Given the description of an element on the screen output the (x, y) to click on. 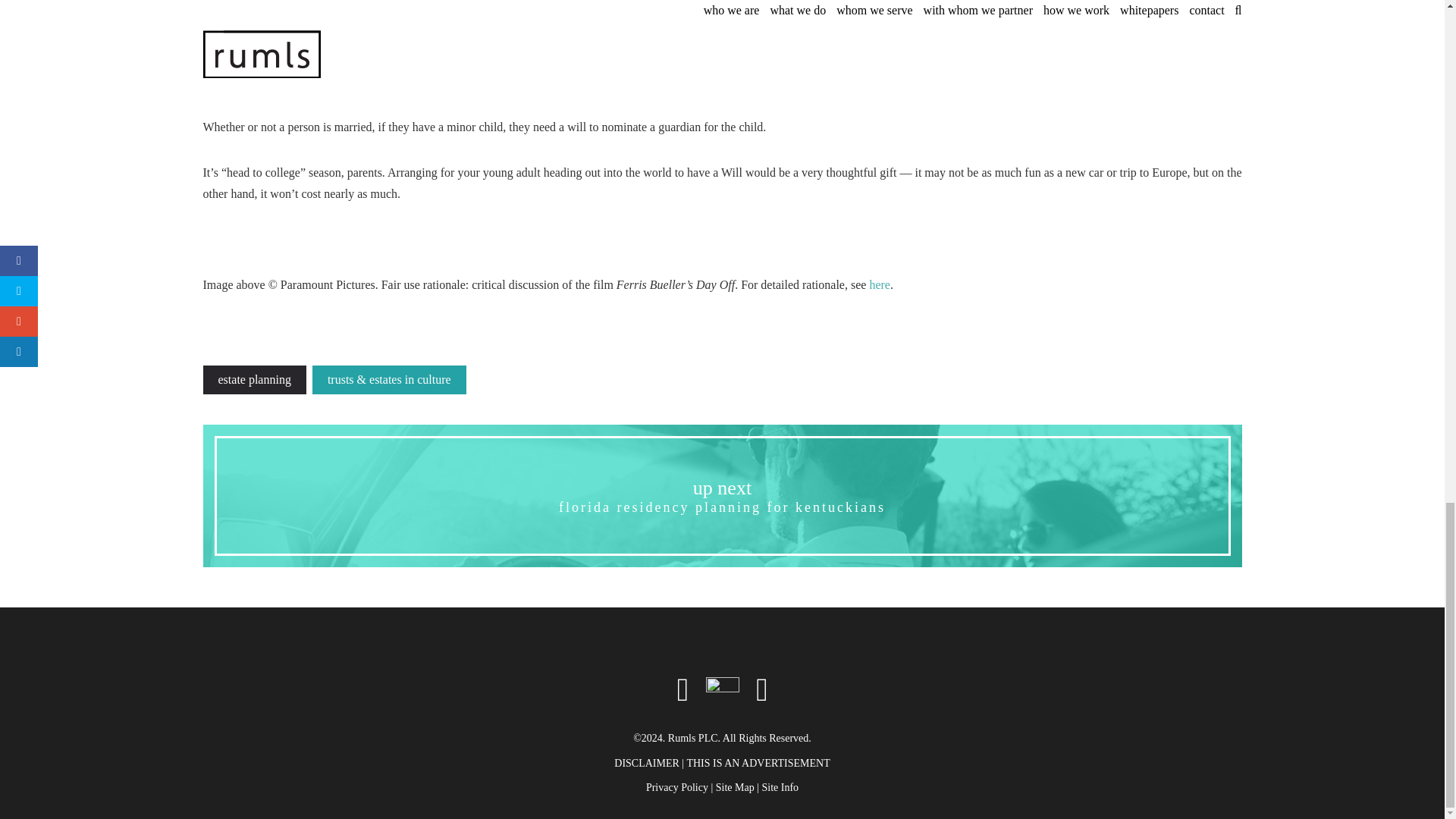
Louisville Web Design (721, 690)
Florida Residency Planning for Kentuckians (722, 495)
estate planning (254, 379)
Site Map (735, 787)
here (879, 284)
Site Info (722, 495)
Privacy Policy (779, 787)
